Given the description of an element on the screen output the (x, y) to click on. 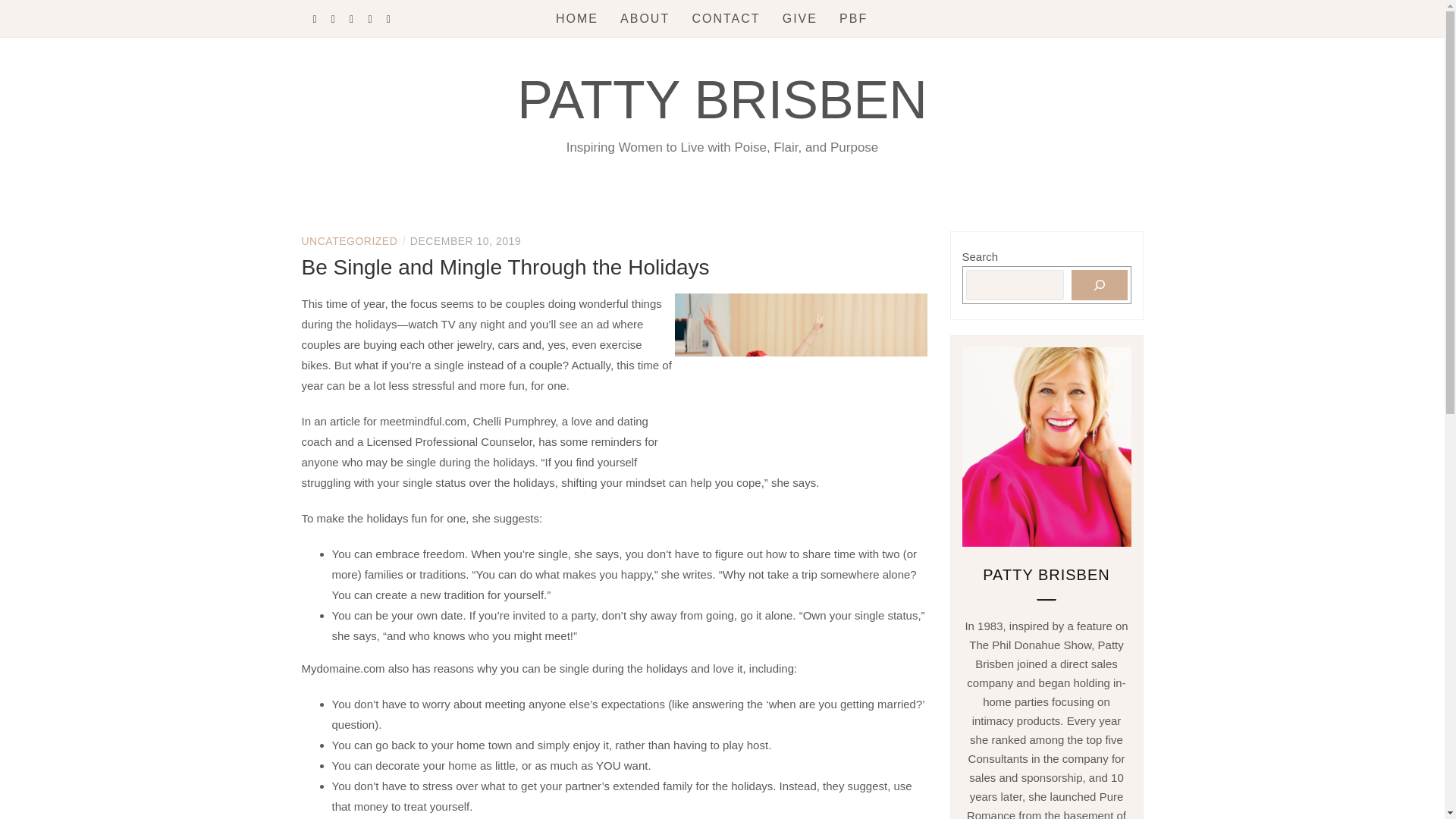
UNCATEGORIZED (349, 241)
GIVE (799, 18)
HOME (577, 18)
CONTACT (725, 18)
PATTY BRISBEN (721, 99)
ABOUT (644, 18)
